Given the description of an element on the screen output the (x, y) to click on. 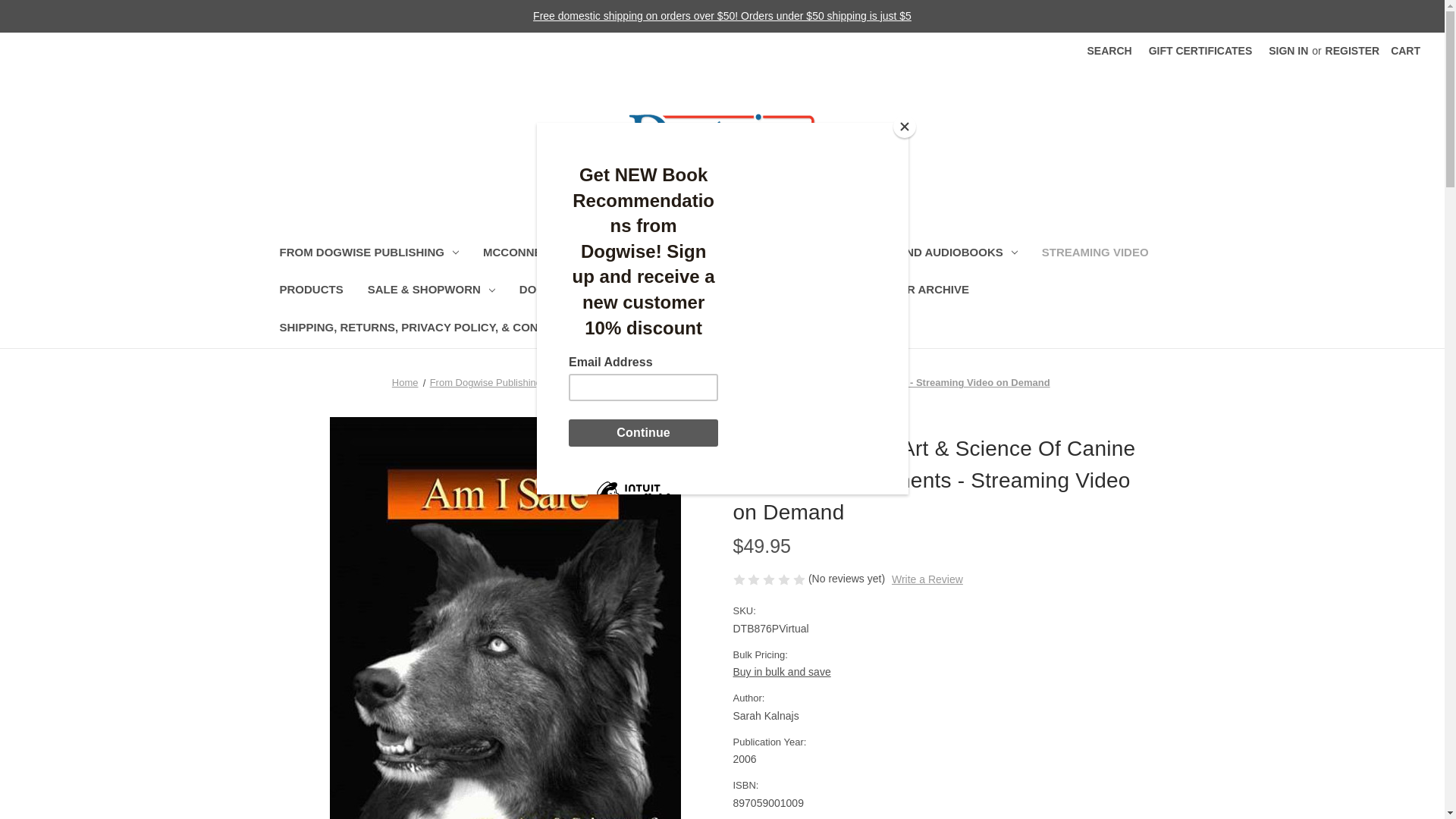
SEARCH (1109, 50)
GIFT CERTIFICATES (1200, 50)
MCCONNELL PUBLISHING (562, 253)
REGISTER (1353, 50)
CART (1404, 50)
FROM DOGWISE PUBLISHING (368, 253)
BOOKS (695, 253)
SIGN IN (1288, 50)
Dogwise (721, 137)
